Given the description of an element on the screen output the (x, y) to click on. 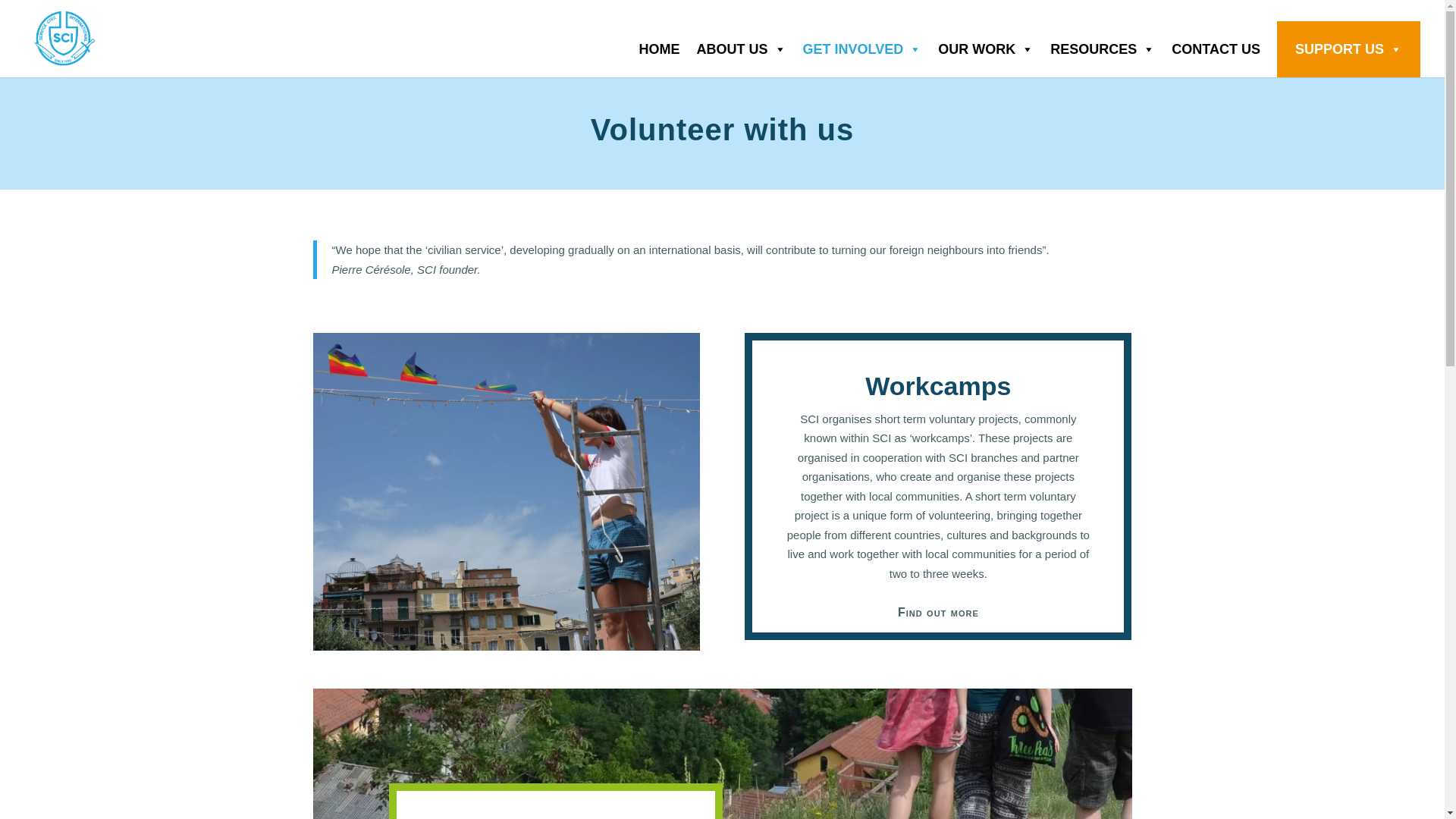
GET INVOLVED (871, 49)
HOME (668, 49)
ABOUT US (750, 49)
SUPPORT US (1356, 49)
RESOURCES (1110, 49)
OUR WORK (993, 49)
CONTACT US (1224, 49)
